Given the description of an element on the screen output the (x, y) to click on. 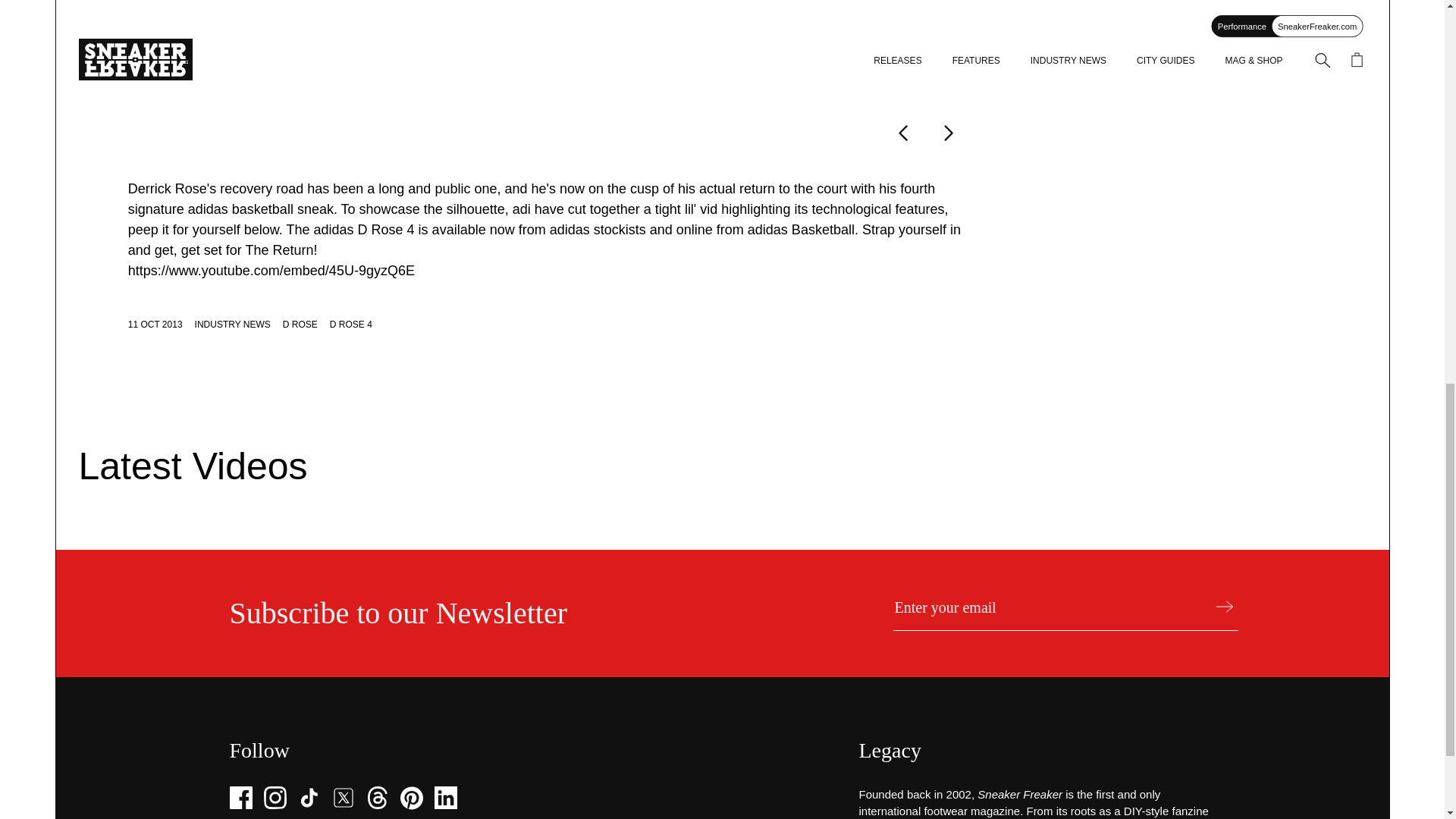
INDUSTRY NEWS (232, 324)
D ROSE (299, 324)
D ROSE 4 (351, 324)
